Given the description of an element on the screen output the (x, y) to click on. 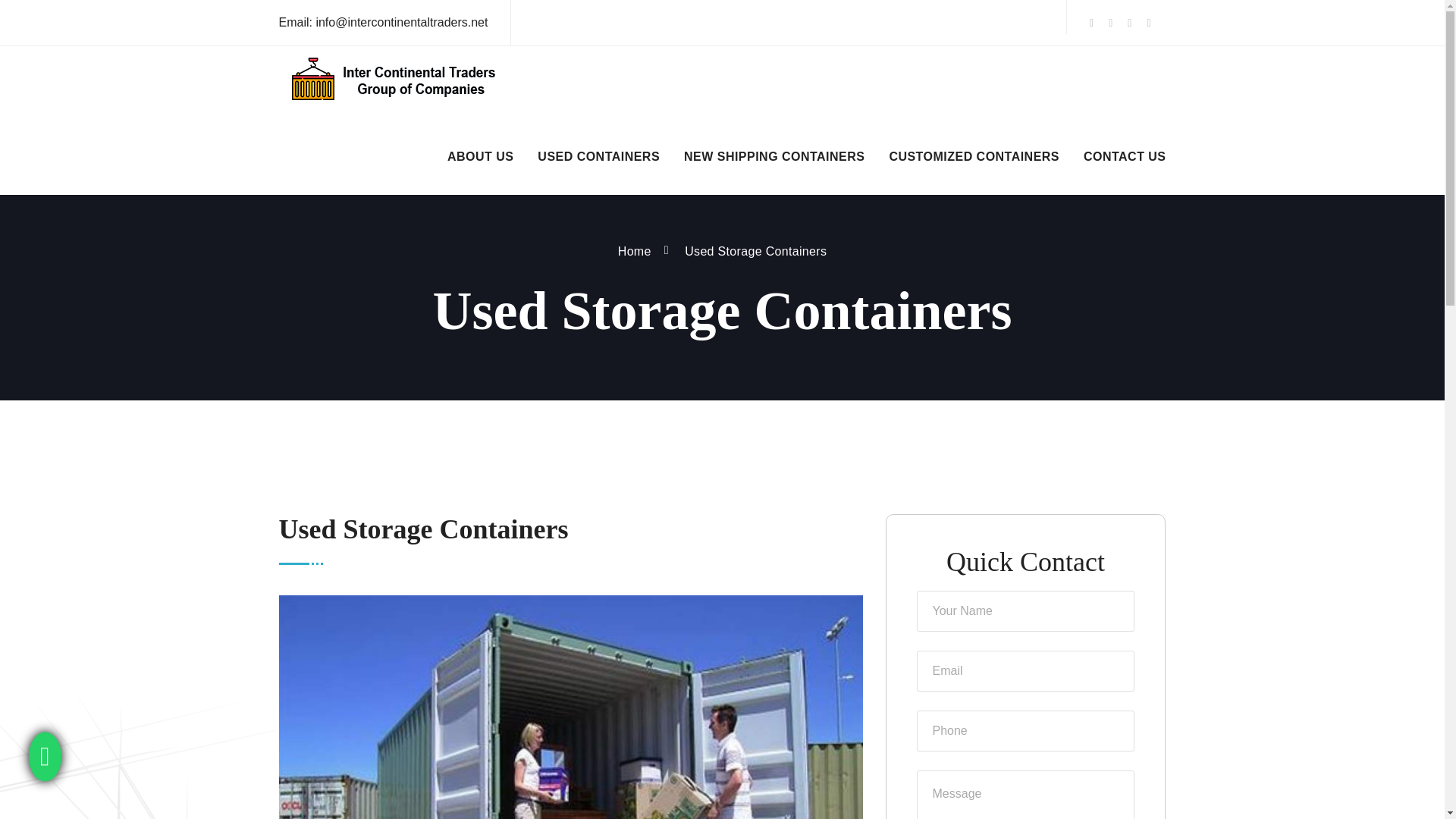
CONTACT US (1124, 162)
USED CONTAINERS (598, 162)
NEW SHIPPING CONTAINERS (774, 162)
ABOUT US (479, 162)
CUSTOMIZED CONTAINERS (973, 162)
